Given the description of an element on the screen output the (x, y) to click on. 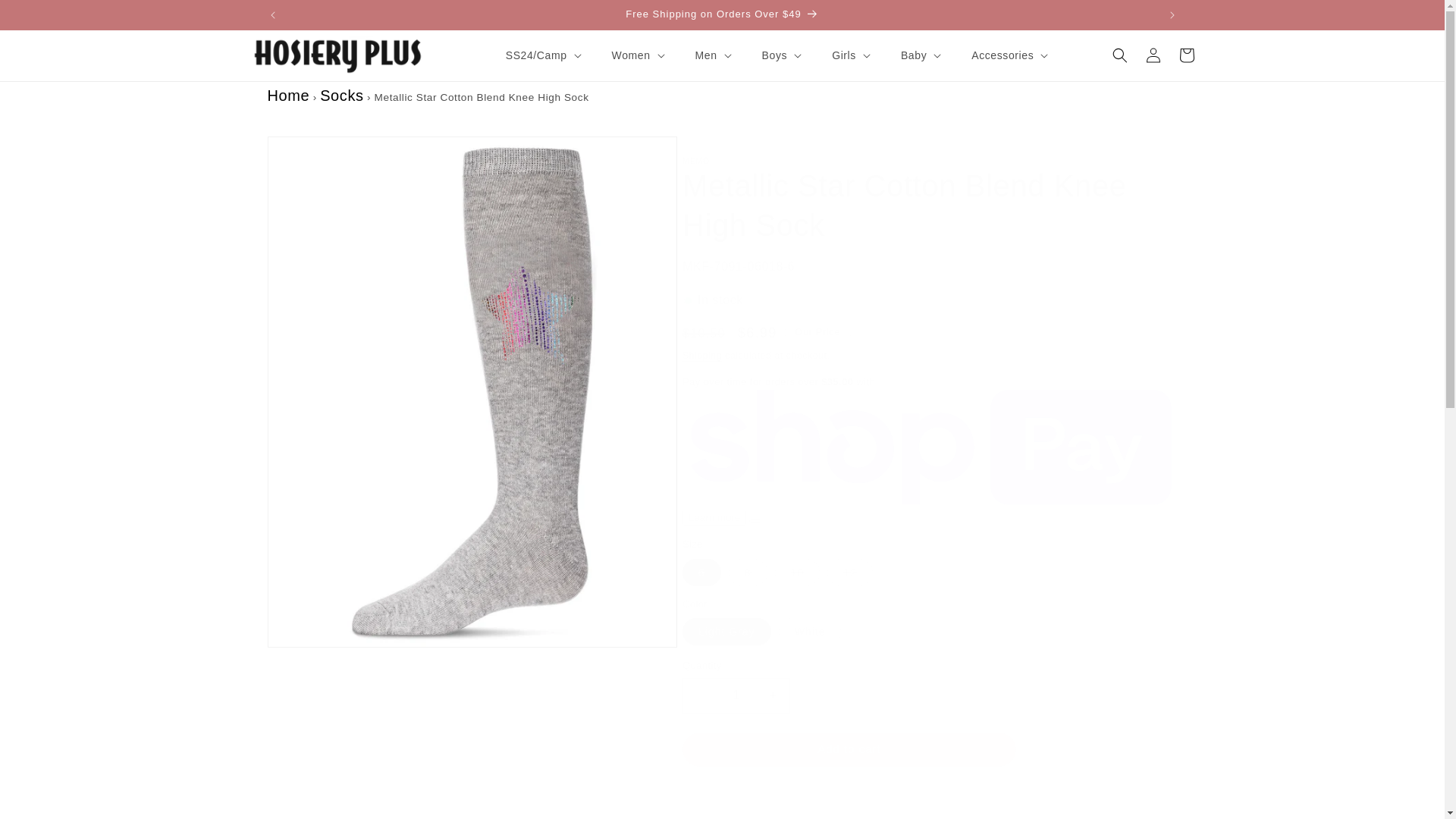
Socks (341, 95)
1 (736, 695)
Skip to content (45, 16)
